Given the description of an element on the screen output the (x, y) to click on. 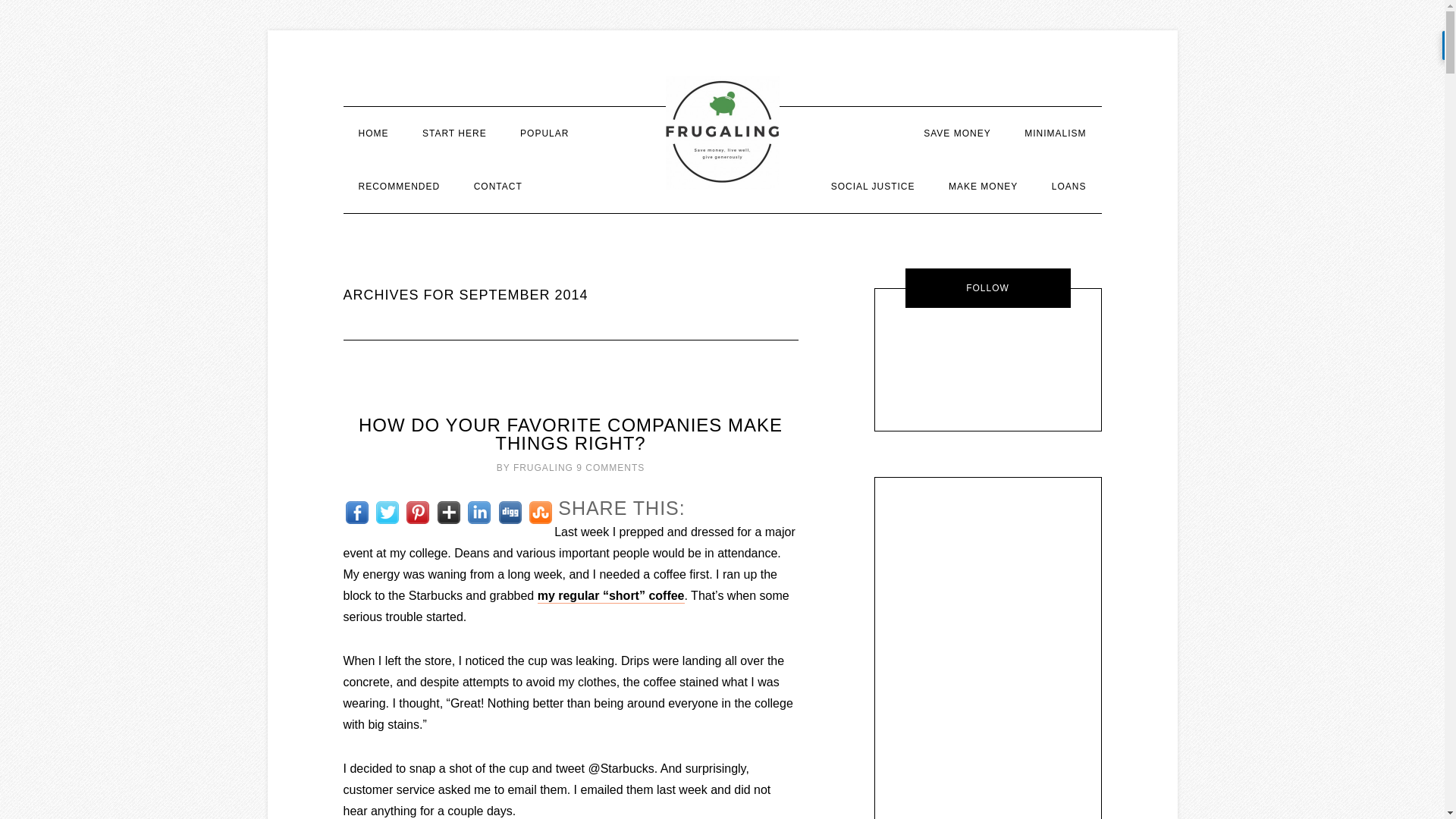
POPULAR (544, 133)
MAKE MONEY (982, 185)
9 COMMENTS (610, 467)
HOW DO YOUR FAVORITE COMPANIES MAKE THINGS RIGHT? (570, 433)
LOANS (1069, 185)
Save Money (957, 133)
FRUGALING (543, 467)
RECOMMENDED (398, 185)
Make Money (982, 185)
FRUGALING (721, 132)
RSS (1045, 346)
SOCIAL JUSTICE (872, 185)
Contact (497, 185)
CONTACT (497, 185)
MINIMALISM (1054, 133)
